Given the description of an element on the screen output the (x, y) to click on. 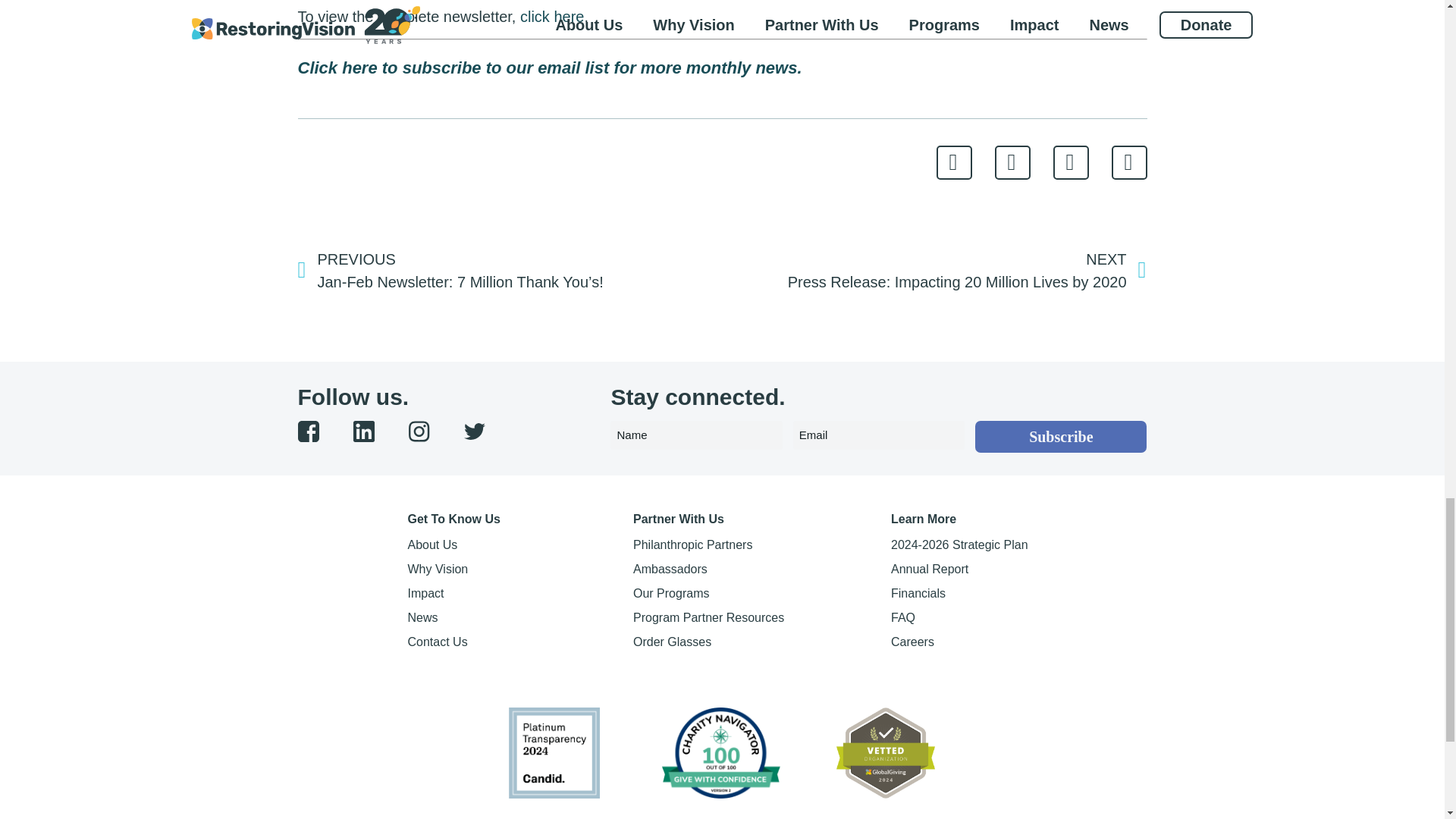
Subscribe (1061, 436)
